Given the description of an element on the screen output the (x, y) to click on. 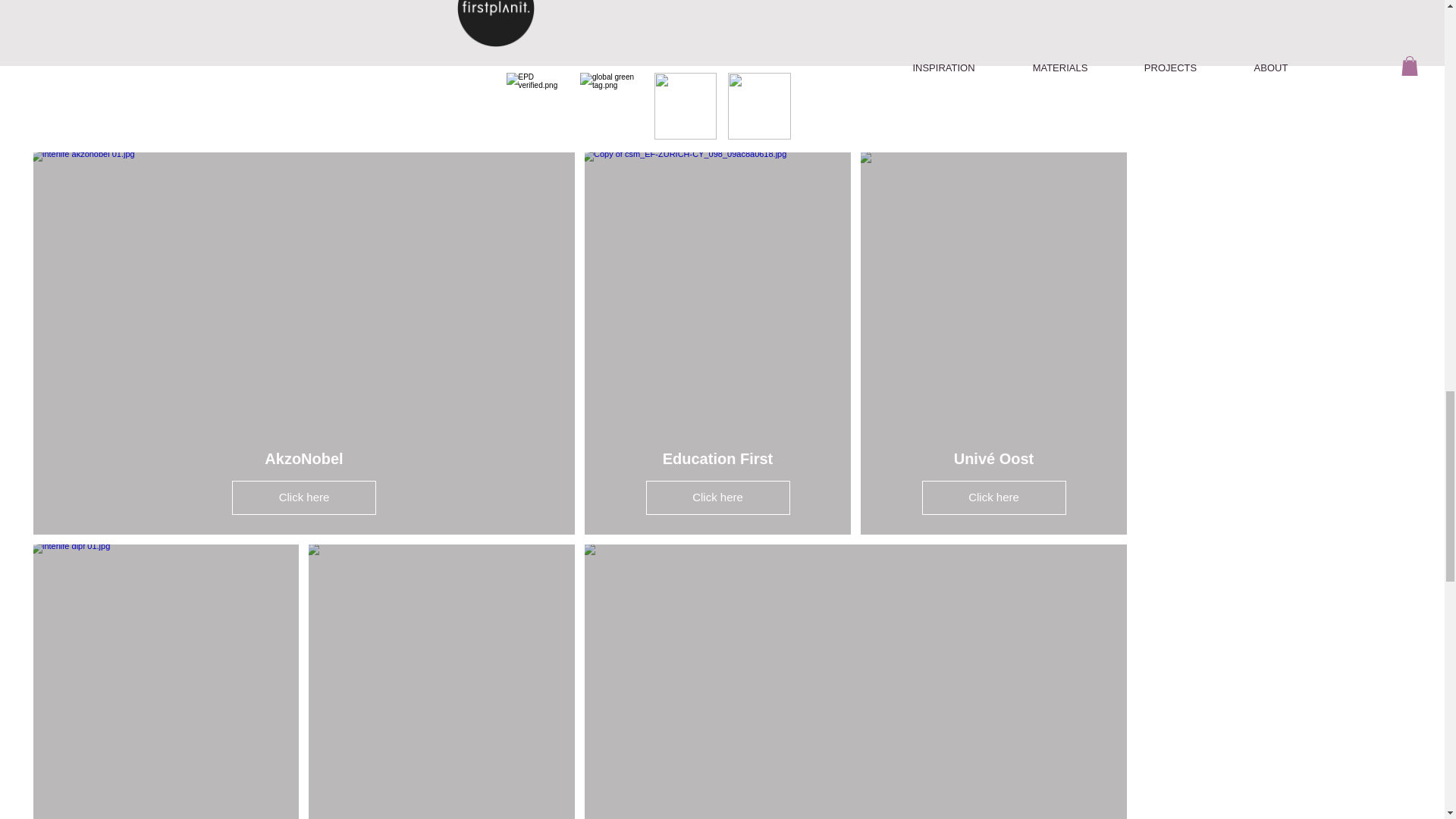
Click here (718, 497)
Click here (993, 497)
Click here (303, 497)
